Given the description of an element on the screen output the (x, y) to click on. 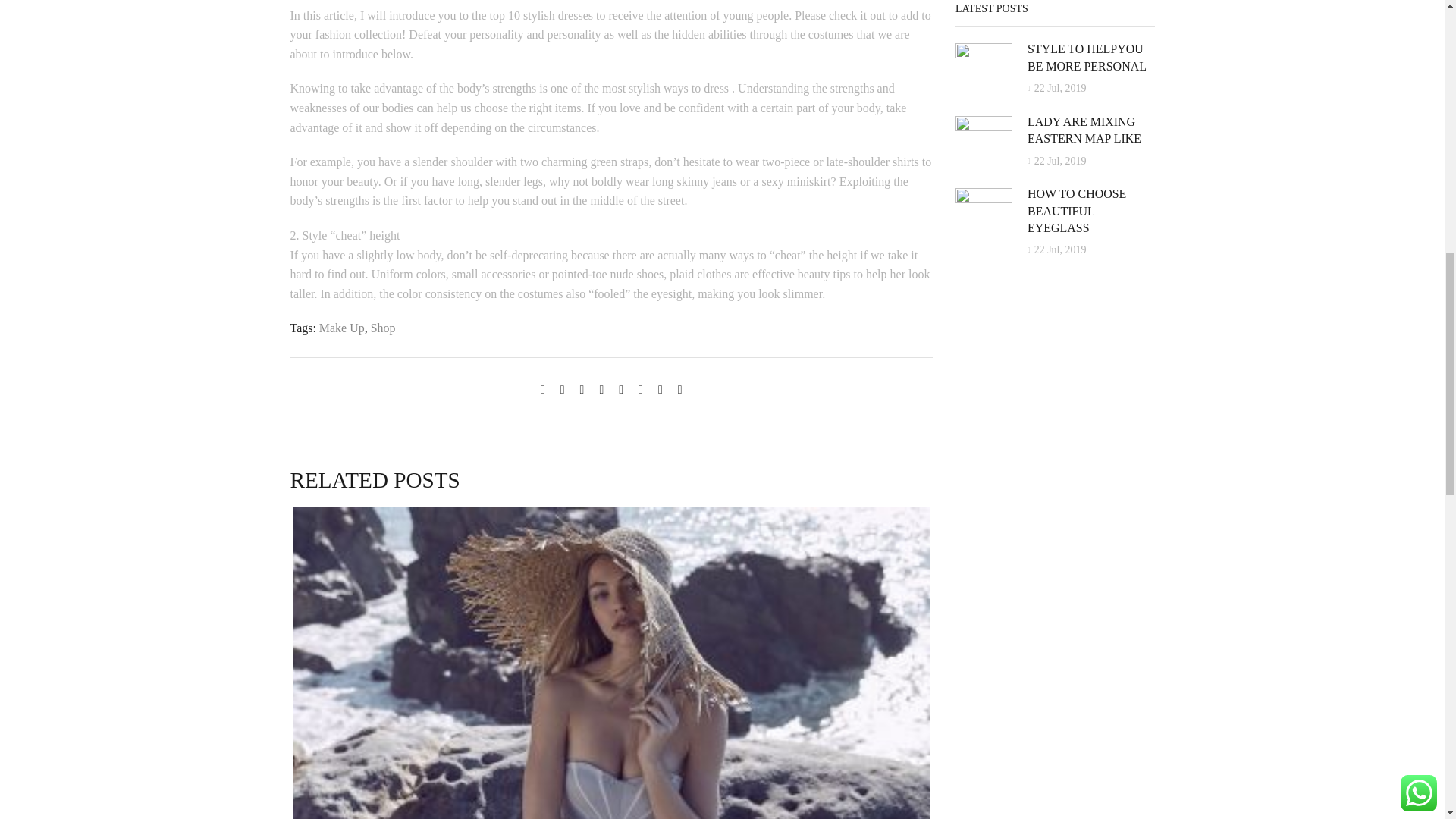
Facebook (562, 389)
Mail to friend (620, 389)
whatsapp (659, 389)
linkedin (640, 389)
VK (582, 389)
Pinterest (601, 389)
